Given the description of an element on the screen output the (x, y) to click on. 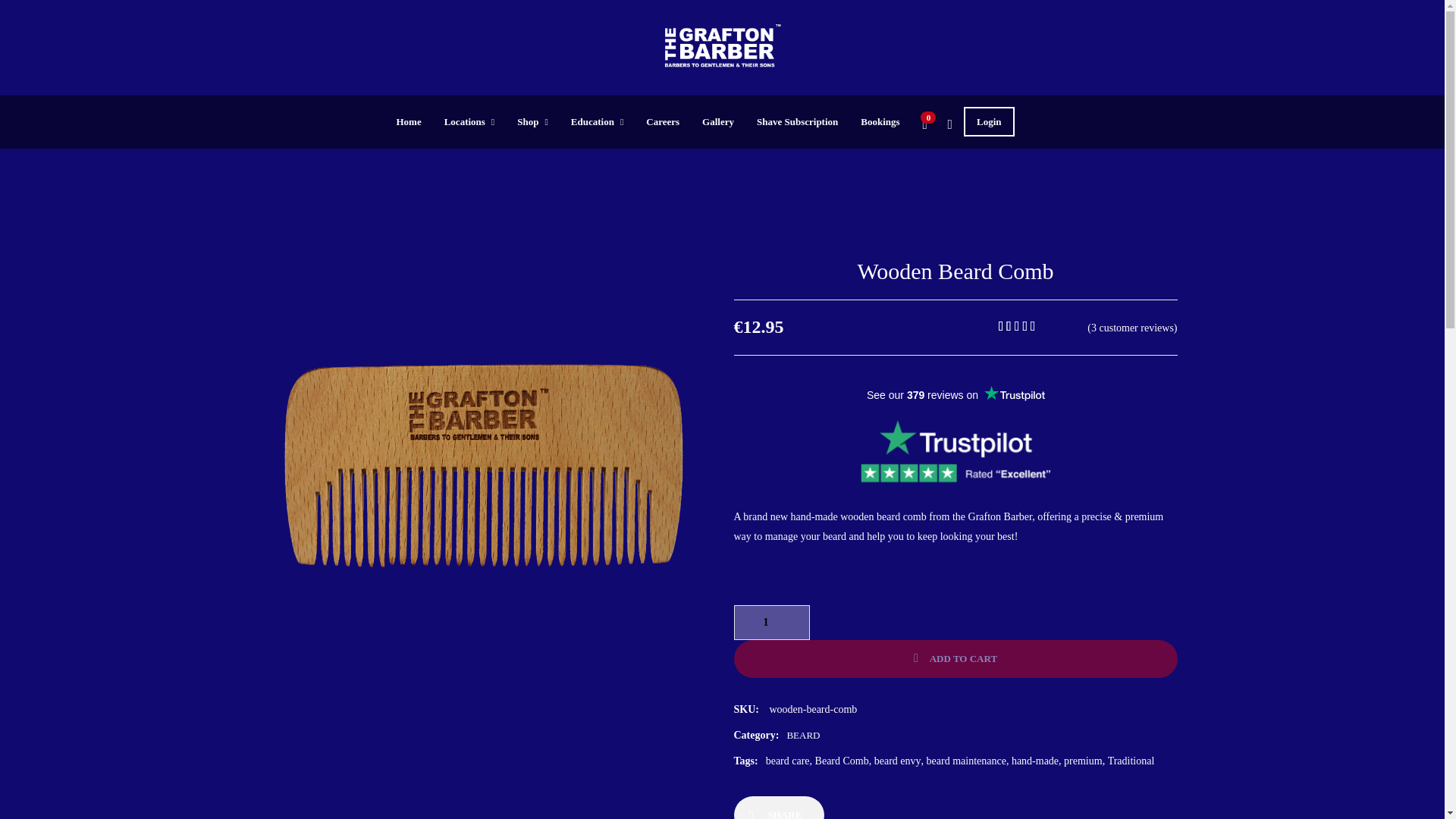
1 (771, 622)
Customer reviews powered by Trustpilot (955, 394)
